Given the description of an element on the screen output the (x, y) to click on. 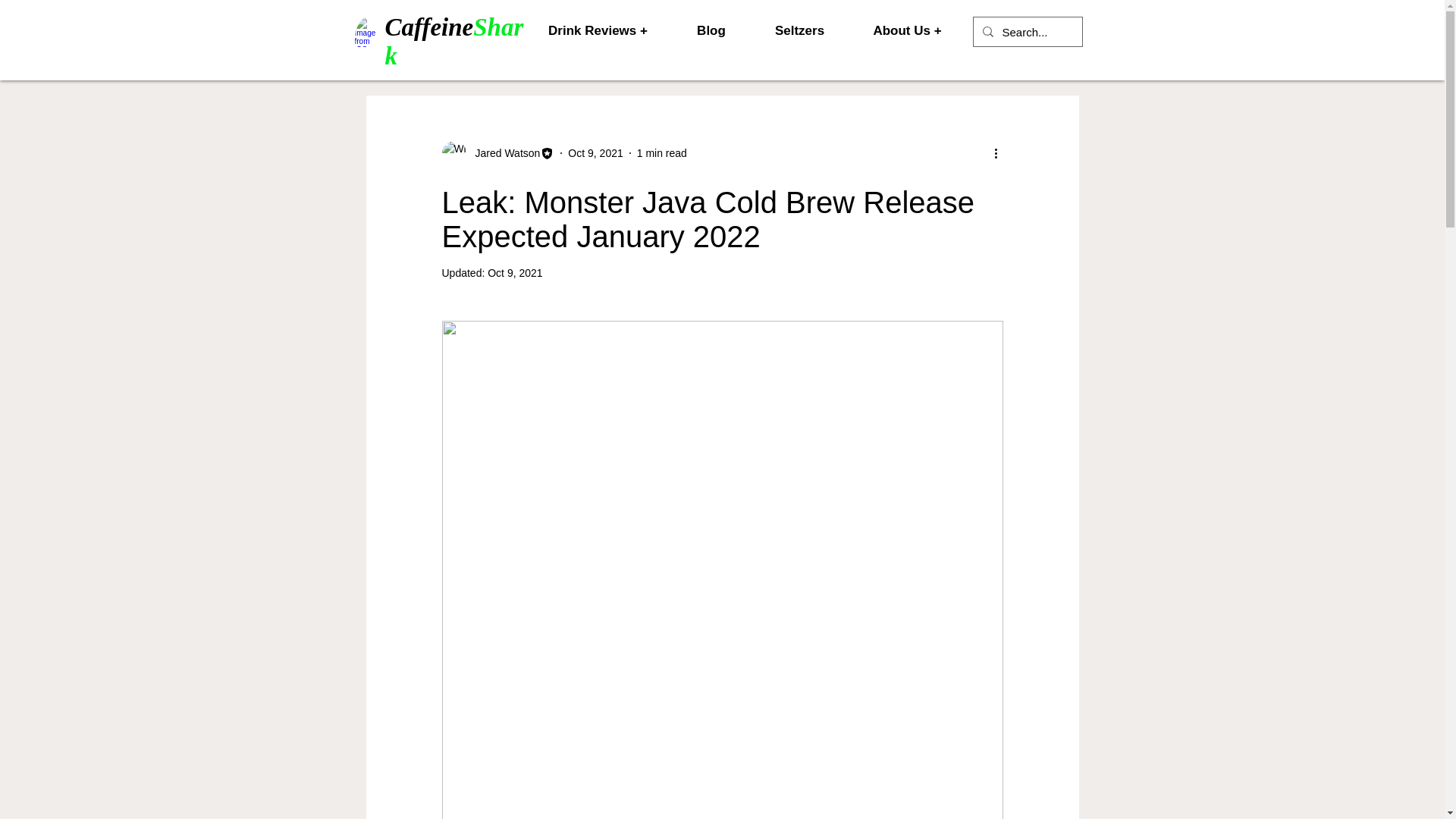
Jared Watson (502, 153)
CaffeineShark (454, 41)
Blog (710, 30)
Oct 9, 2021 (595, 152)
Seltzers (799, 30)
1 min read (662, 152)
Oct 9, 2021 (514, 272)
